Given the description of an element on the screen output the (x, y) to click on. 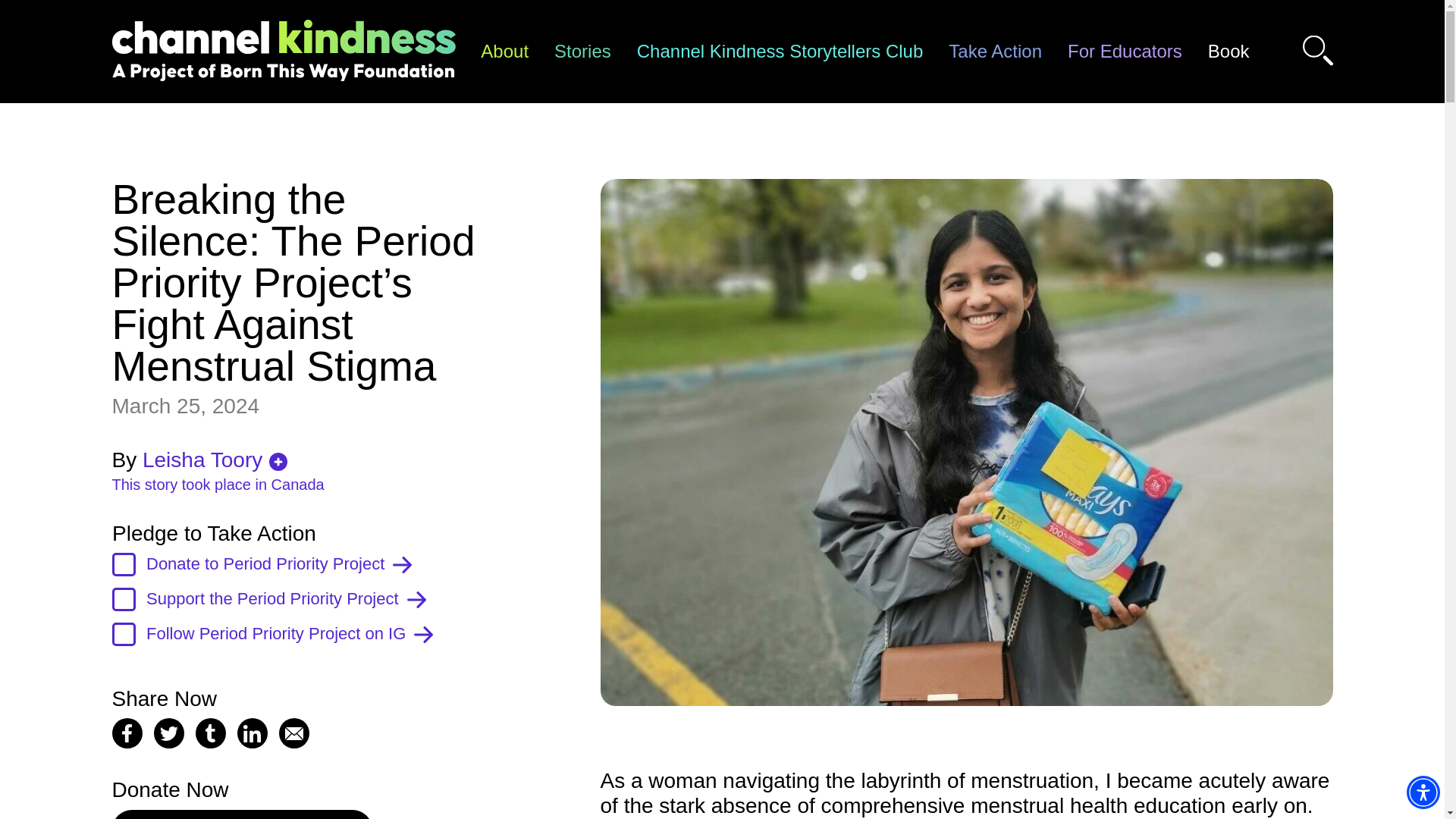
Leisha Toory (202, 459)
For Educators (1124, 50)
About (504, 50)
Book (1228, 50)
Donate to Channel Kindness! (242, 814)
This story took place in Canada (299, 484)
Stories (582, 50)
Posts by Leisha Toory (202, 459)
Share on Facebook (127, 733)
Channel Kindness Storytellers Club (780, 50)
